Given the description of an element on the screen output the (x, y) to click on. 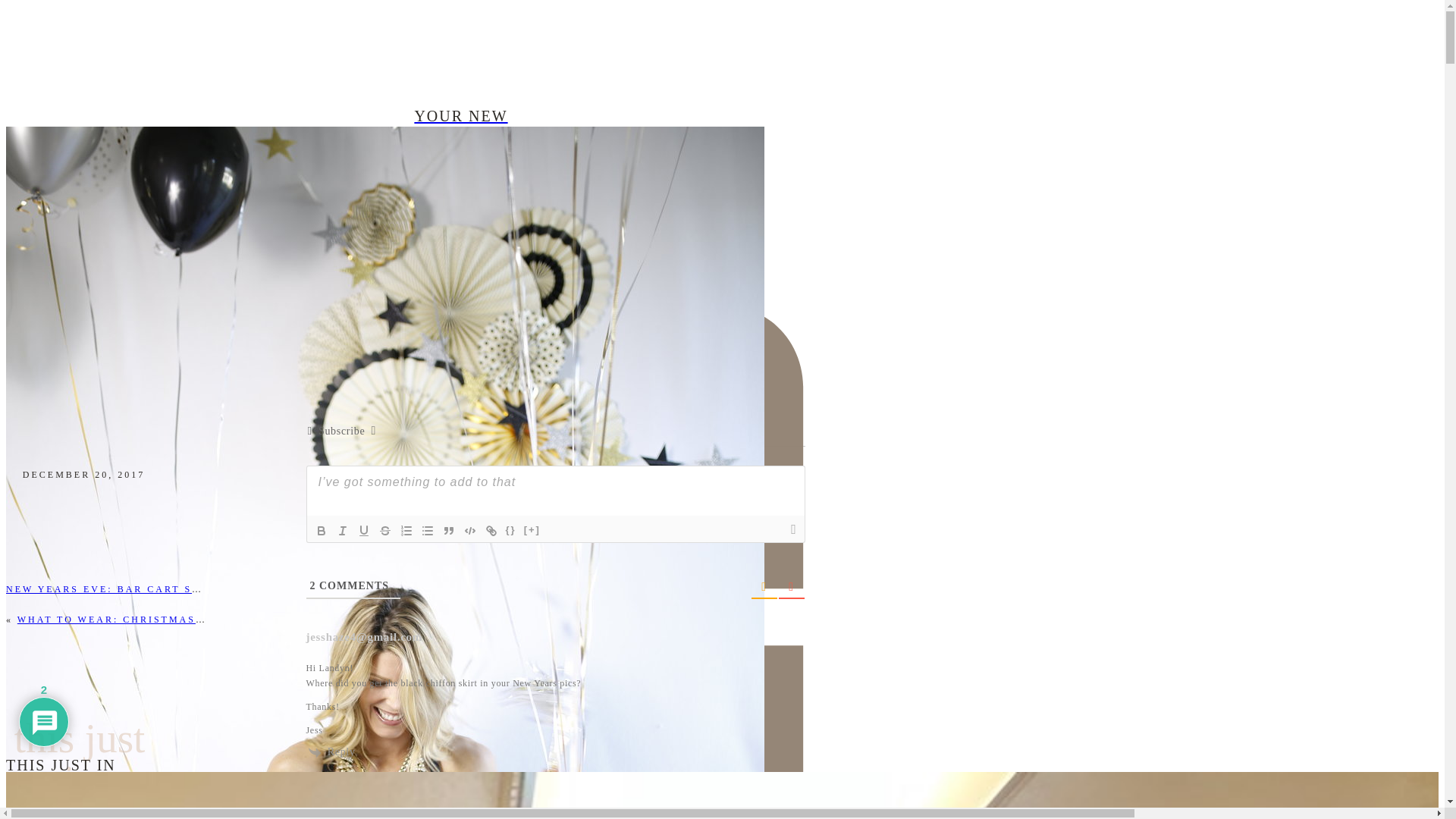
Ordered List (406, 530)
Italic (342, 530)
BEST FRIEND (460, 156)
Spoiler (531, 530)
Source Code (510, 530)
Bold (321, 530)
Blockquote (449, 530)
Unordered List (427, 530)
YOUR NEW (460, 115)
ABOUT (460, 174)
Strike (385, 530)
FOOD (460, 153)
Underline (363, 530)
